Given the description of an element on the screen output the (x, y) to click on. 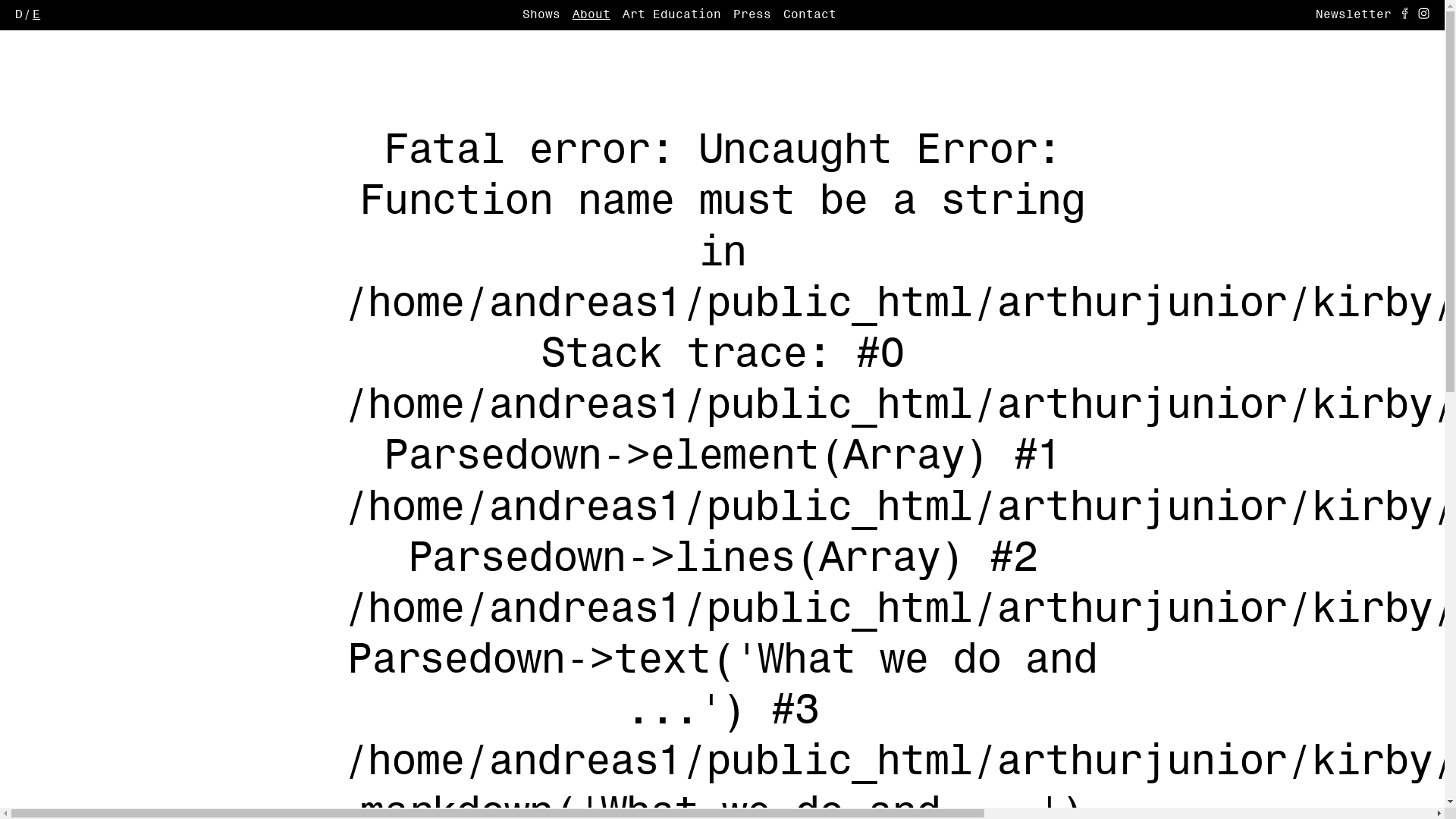
Press Element type: text (752, 15)
Shows Element type: text (541, 15)
Art Education Element type: text (671, 15)
About Element type: text (591, 15)
D Element type: text (18, 15)
E Element type: text (36, 15)
Contact Element type: text (809, 15)
Newsletter Element type: text (1353, 15)
